Given the description of an element on the screen output the (x, y) to click on. 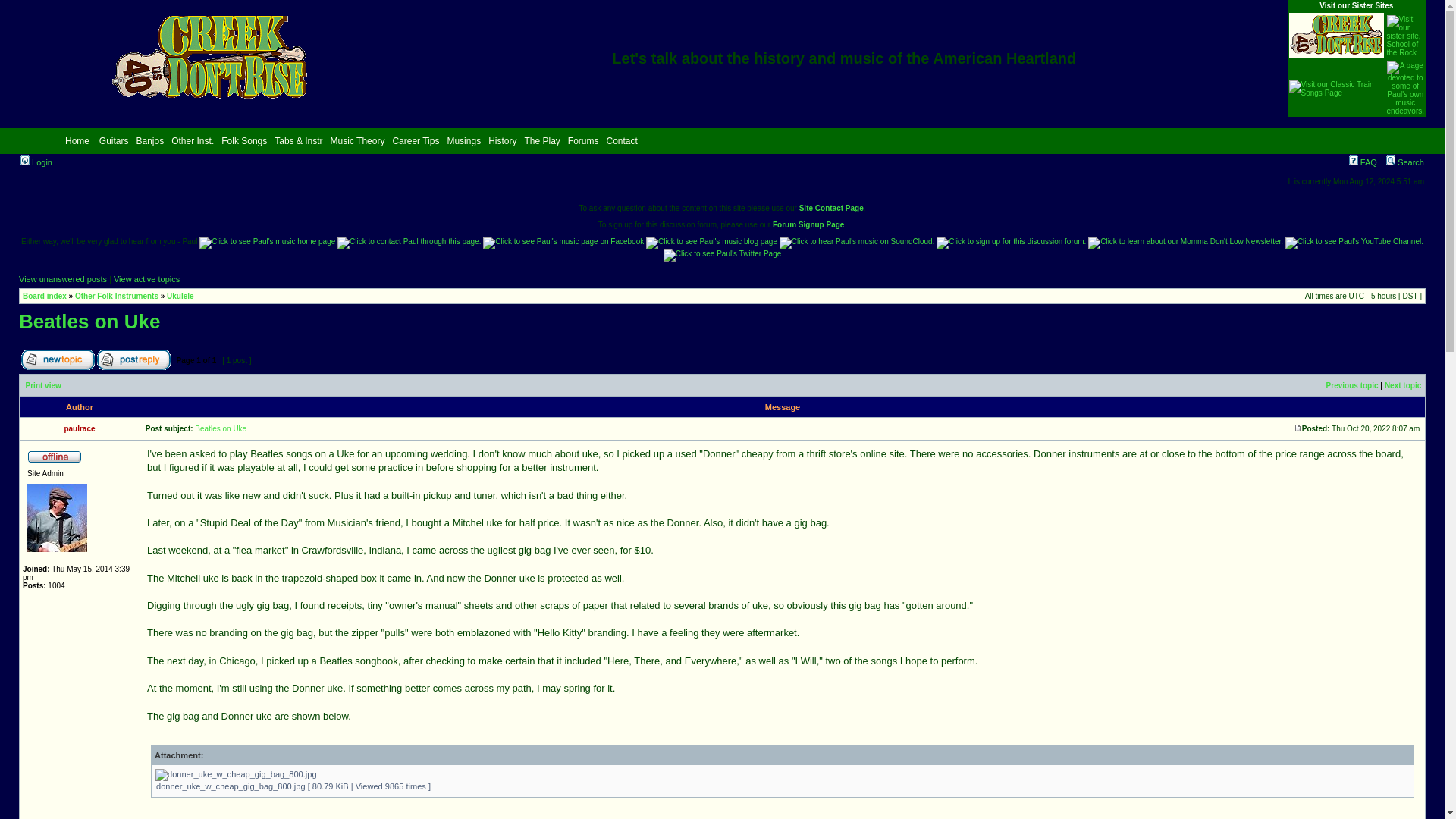
Click to hear Paul's music on SoundCloud. (856, 243)
Post new topic (57, 359)
Paul's music home page (266, 243)
See Paul's YouTube channel (1354, 243)
Jump to Paul's music blog page (711, 243)
Banjos (149, 140)
Offline (54, 455)
Sign up for this discussion forum (1011, 243)
Post (1297, 428)
Guitars (114, 140)
